Given the description of an element on the screen output the (x, y) to click on. 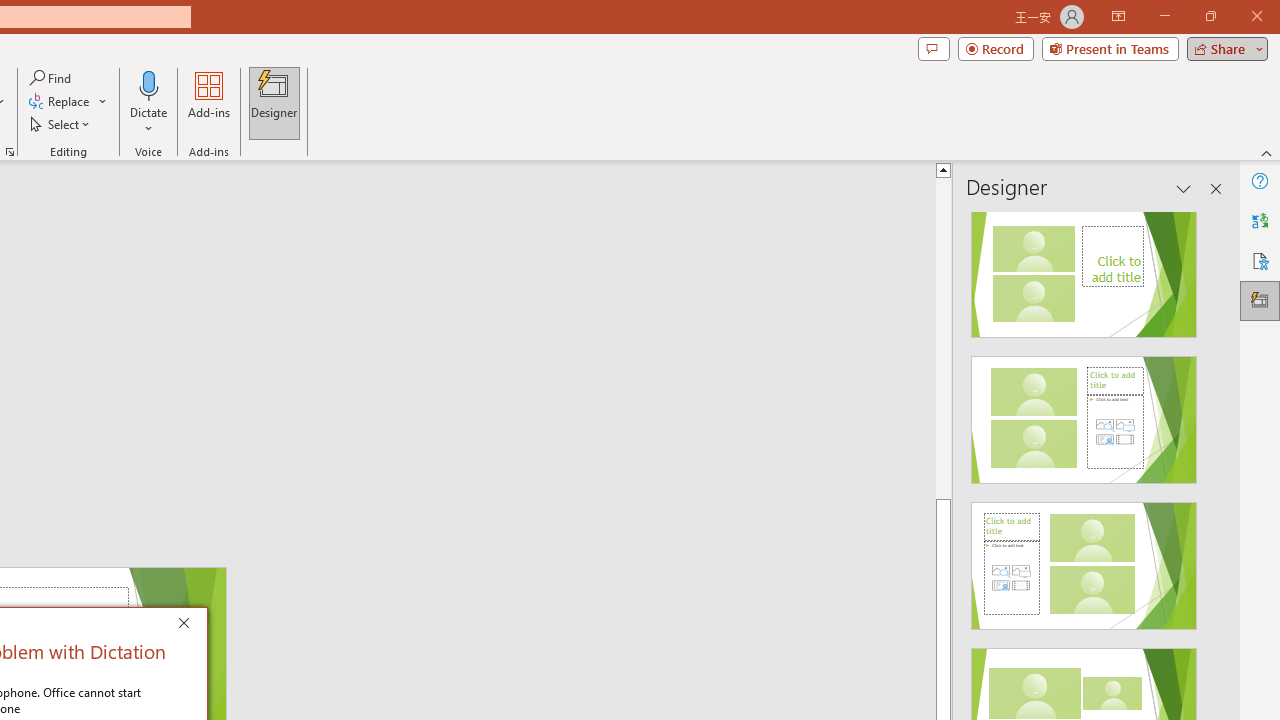
Recommended Design: Design Idea (1083, 268)
